Given the description of an element on the screen output the (x, y) to click on. 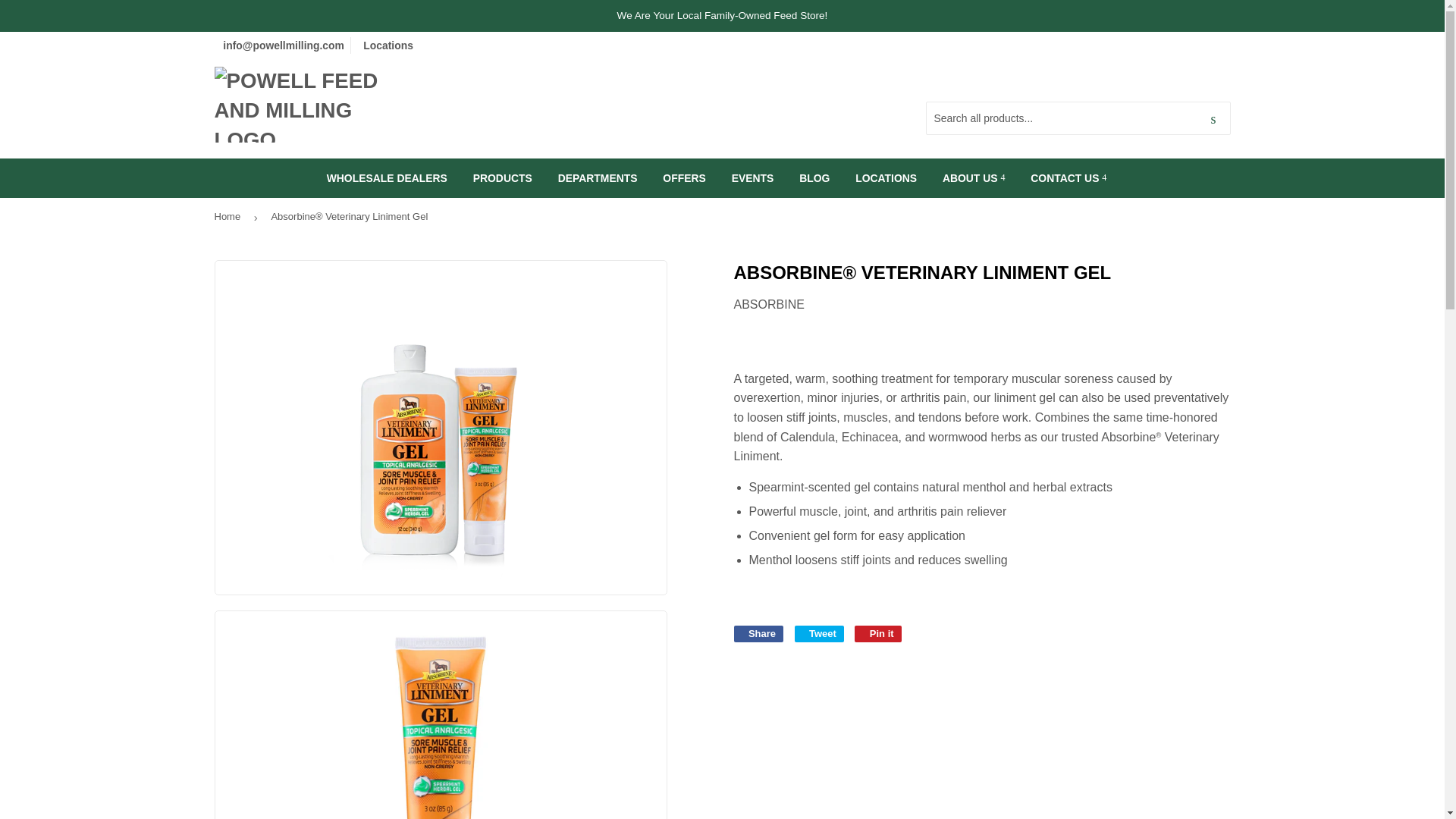
EVENTS (753, 178)
Share on Facebook (758, 633)
 Locations (386, 45)
Back to the frontpage (230, 217)
Tweet on Twitter (819, 633)
BLOG (814, 178)
Open Product Zoom (441, 427)
Pin on Pinterest (877, 633)
SEARCH (1213, 119)
ABOUT US (973, 178)
OFFERS (683, 178)
PRODUCTS (502, 178)
LOCATIONS (886, 178)
DEPARTMENTS (598, 178)
WHOLESALE DEALERS (386, 178)
